Given the description of an element on the screen output the (x, y) to click on. 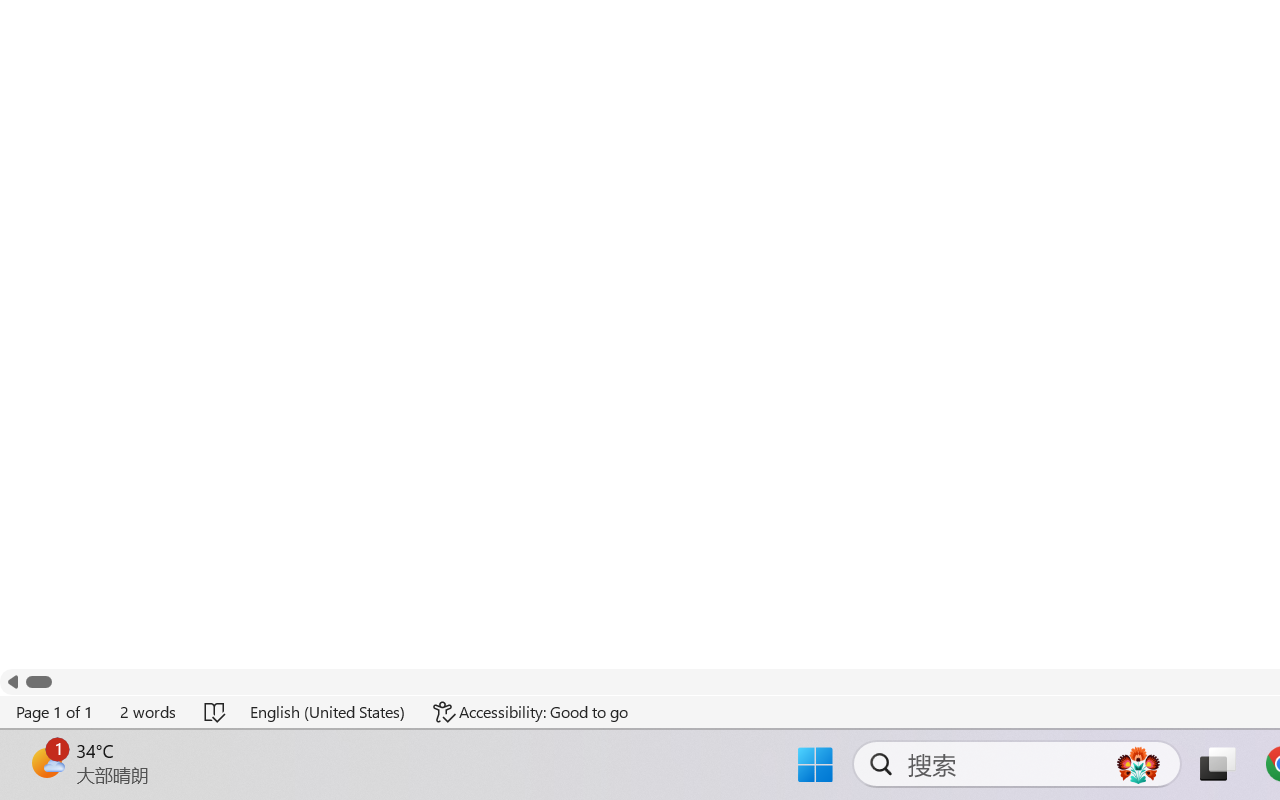
AutomationID: BadgeAnchorLargeTicker (46, 762)
Word Count 2 words (149, 712)
Page Number Page 1 of 1 (55, 712)
Accessibility Checker Accessibility: Good to go (531, 712)
Column left (12, 681)
Spelling and Grammar Check No Errors (216, 712)
Language English (United States) (328, 712)
AutomationID: DynamicSearchBoxGleamImage (1138, 764)
